Given the description of an element on the screen output the (x, y) to click on. 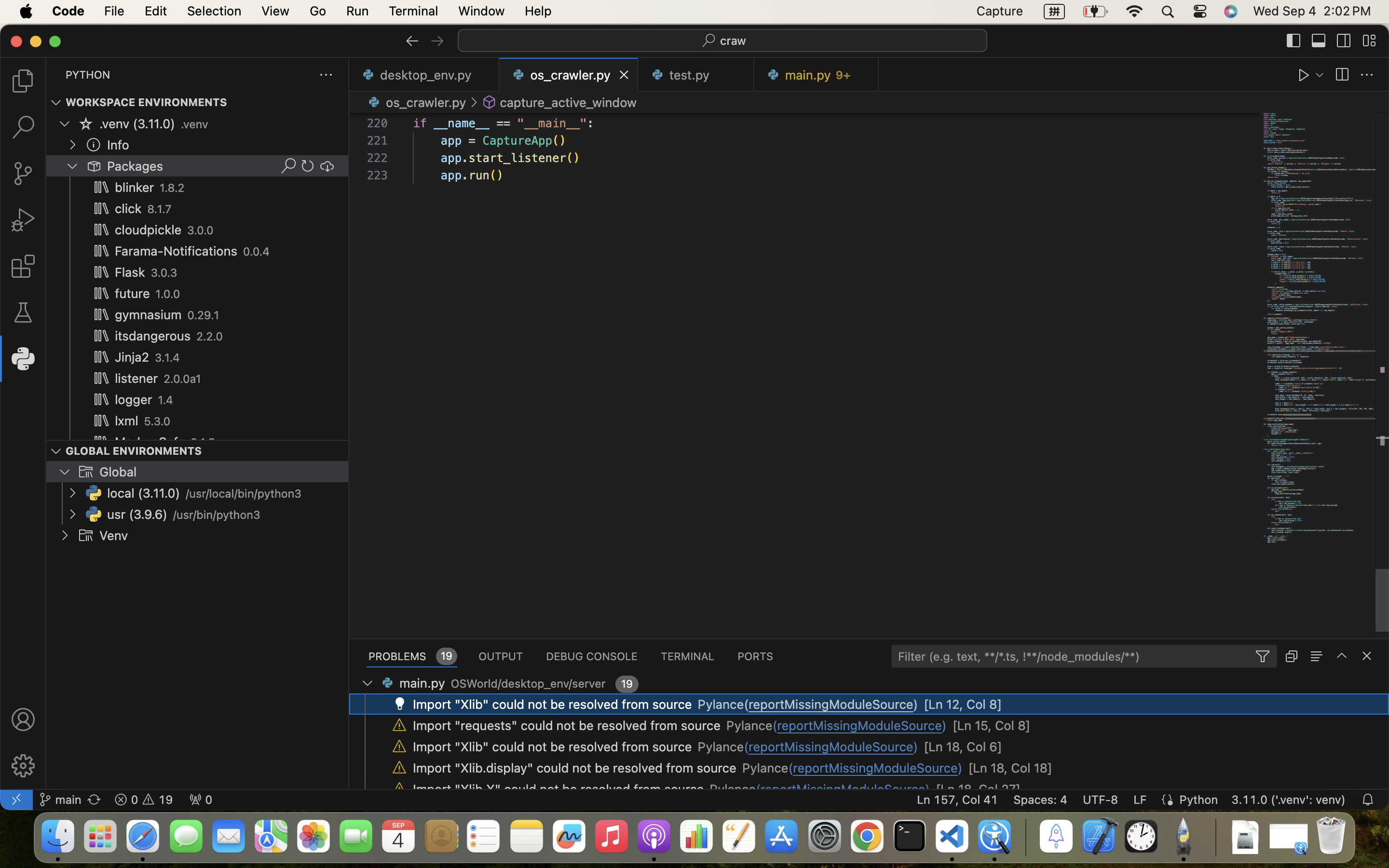
capture_active_window Element type: AXGroup (567, 101)
19  0  Element type: AXButton (143, 799)
Venv Element type: AXStaticText (113, 535)
listener Element type: AXStaticText (136, 378)
19 Element type: AXStaticText (627, 684)
